Given the description of an element on the screen output the (x, y) to click on. 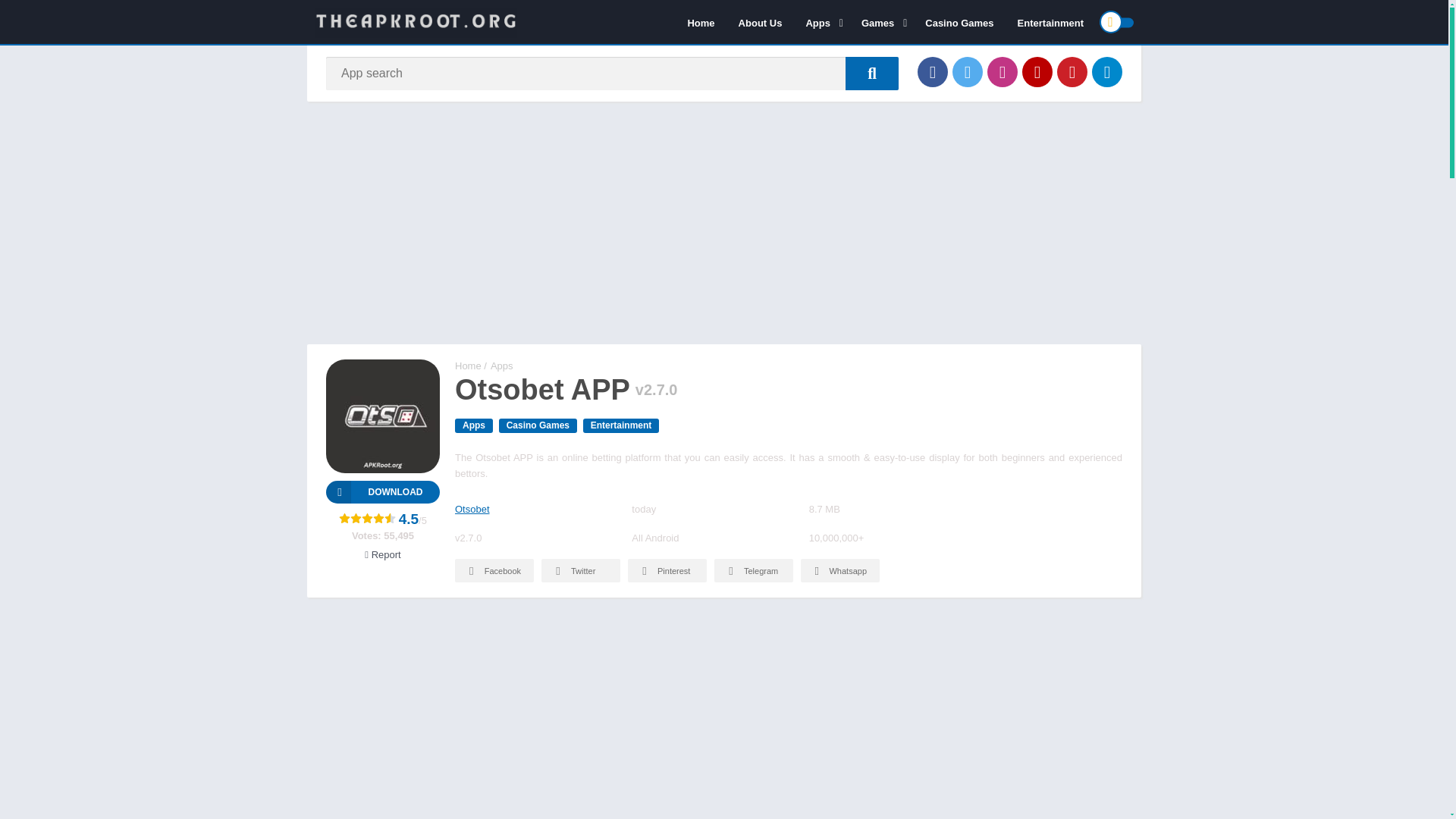
About Us (759, 22)
YouTube (1037, 71)
App search (871, 73)
Pinterest (1072, 71)
Casino Games (959, 22)
Facebook (932, 71)
Games (881, 22)
Apps (820, 22)
Entertainment (1050, 22)
Home (700, 22)
Telegram (1107, 71)
Twitter (967, 71)
Instagram (1002, 71)
